Given the description of an element on the screen output the (x, y) to click on. 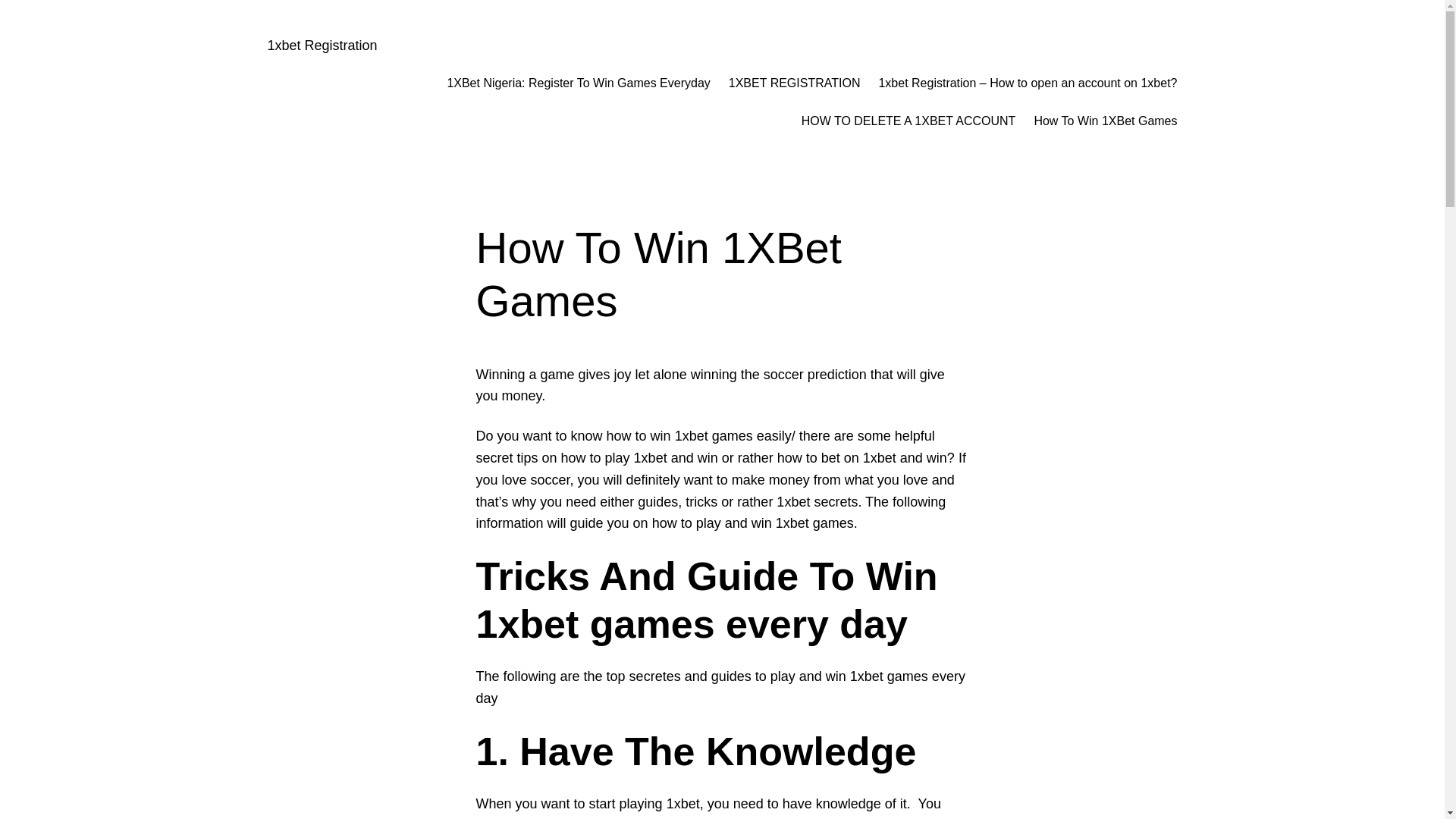
1xbet Registration Element type: text (321, 45)
HOW TO DELETE A 1XBET ACCOUNT Element type: text (908, 121)
1XBET REGISTRATION Element type: text (794, 83)
How To Win 1XBet Games Element type: text (1104, 121)
1XBet Nigeria: Register To Win Games Everyday Element type: text (577, 83)
